Given the description of an element on the screen output the (x, y) to click on. 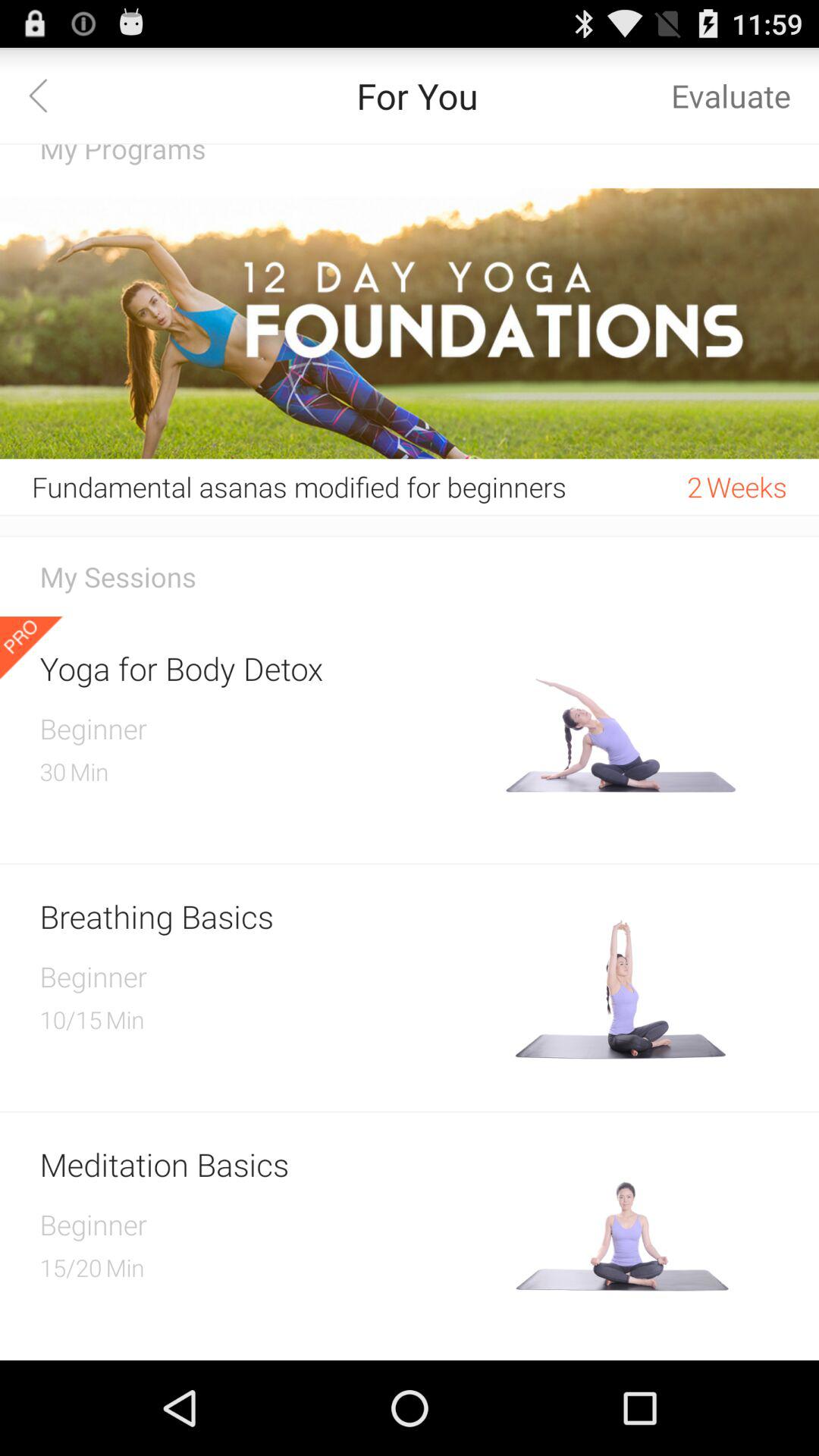
choose the icon above beginner icon (266, 915)
